Given the description of an element on the screen output the (x, y) to click on. 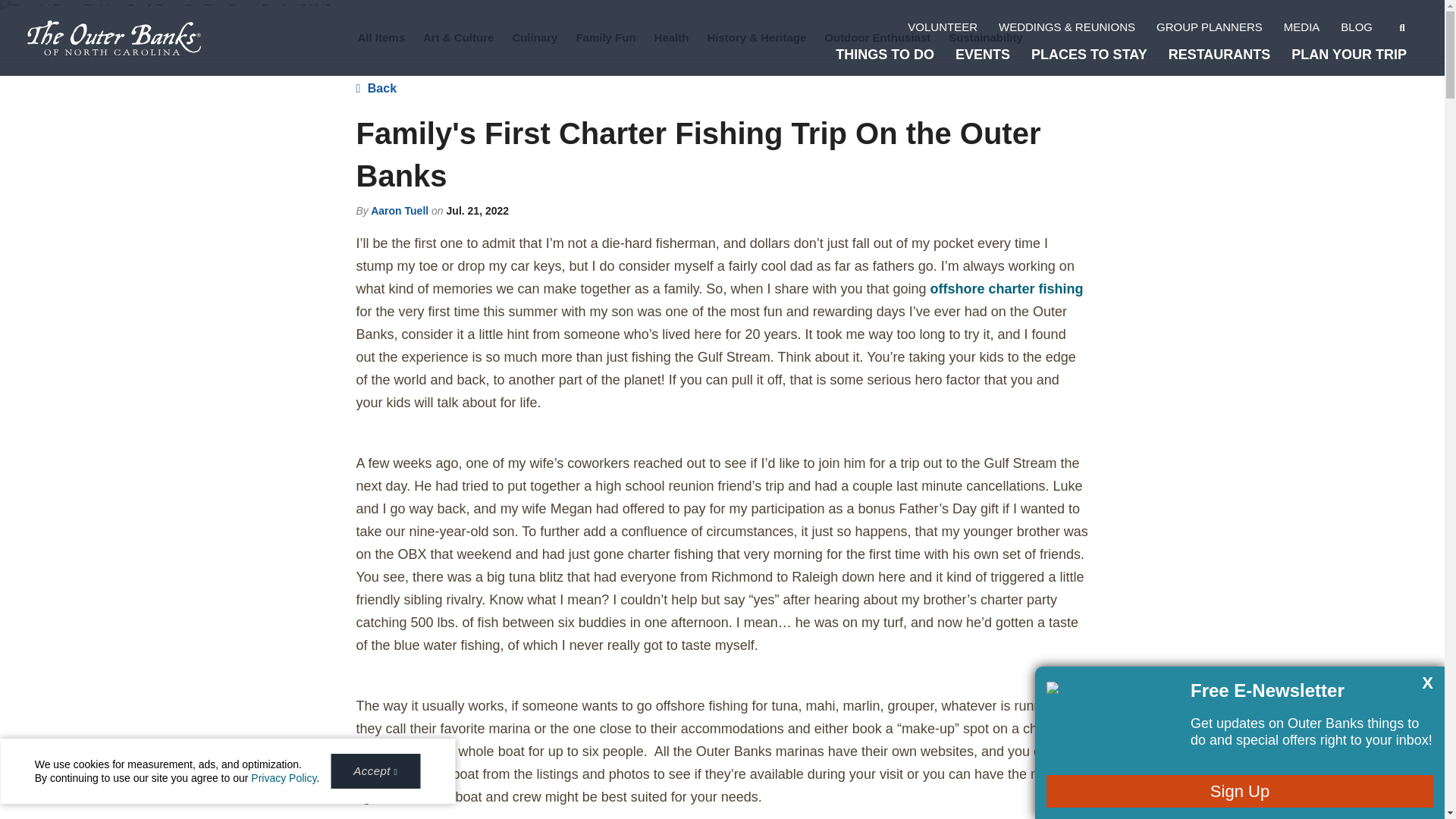
THINGS TO DO (876, 55)
EVENTS (975, 55)
RESTAURANTS (1212, 55)
BLOG (1348, 27)
VOLUNTEER (934, 27)
PLACES TO STAY (1081, 55)
PLAN YOUR TRIP (1340, 55)
MEDIA (1294, 27)
GROUP PLANNERS (1201, 27)
